Given the description of an element on the screen output the (x, y) to click on. 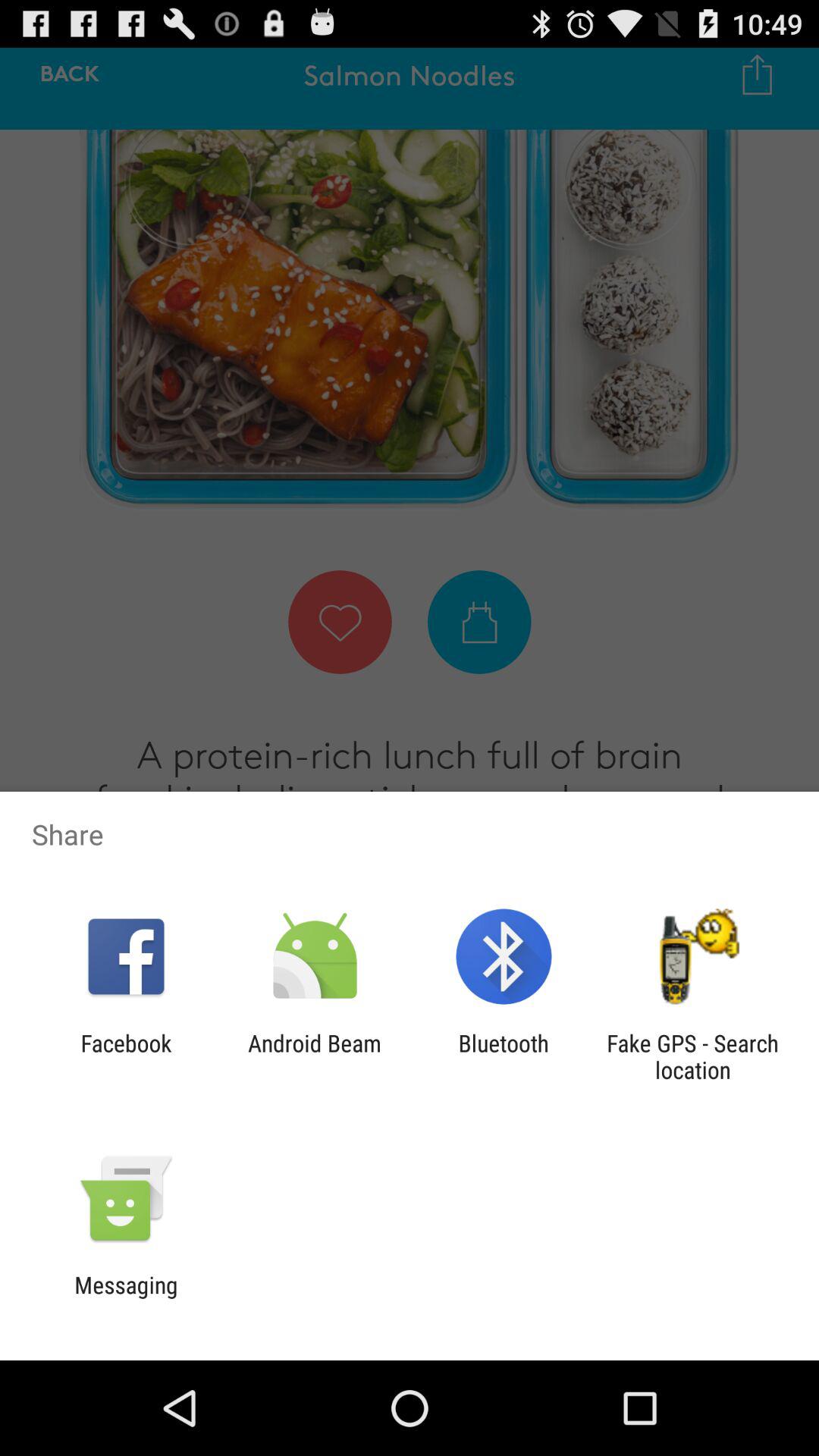
tap the android beam icon (314, 1056)
